Given the description of an element on the screen output the (x, y) to click on. 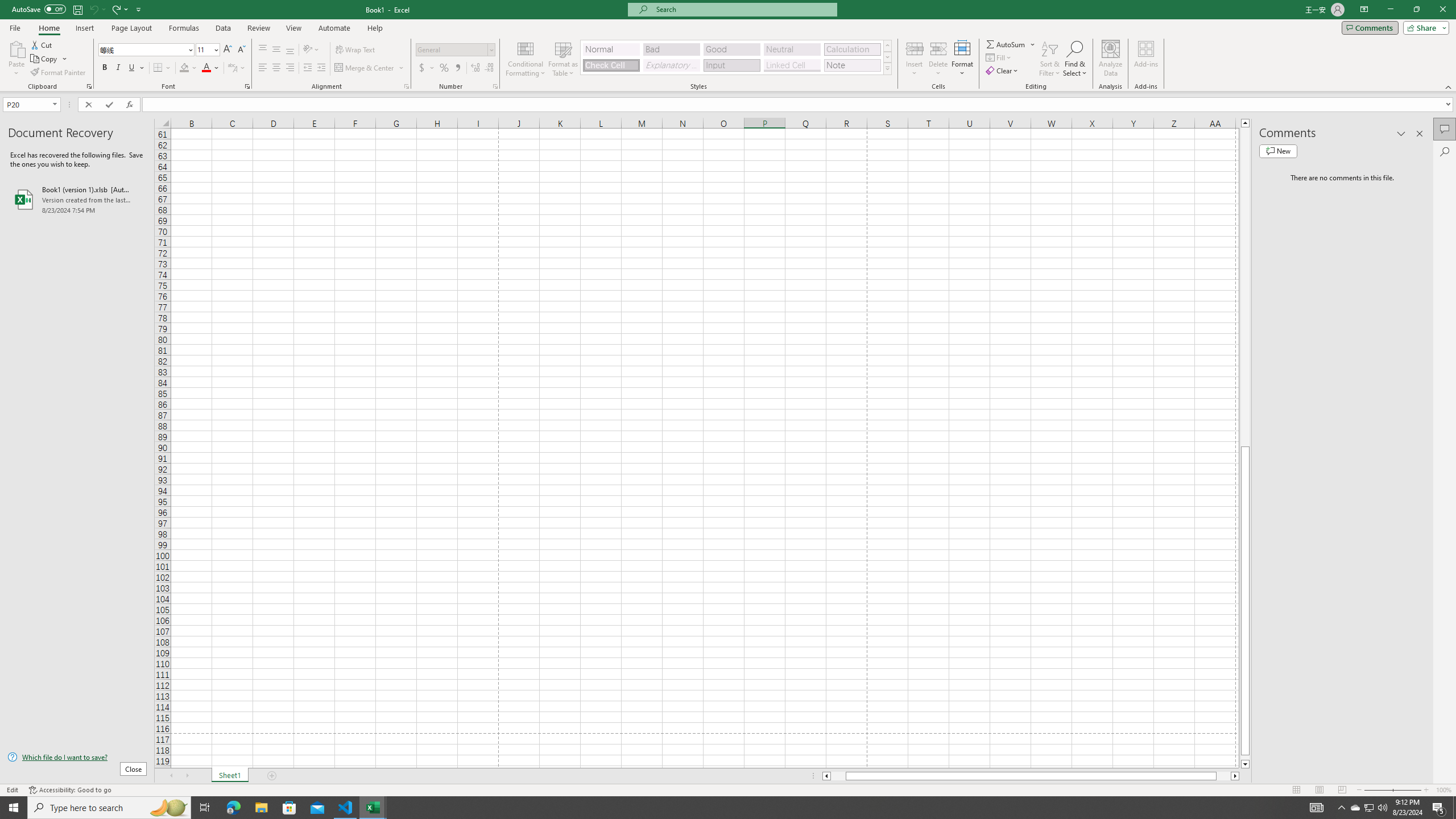
Top Align (262, 49)
Paste (16, 58)
Number Format (451, 49)
Bottom Border (157, 67)
Show Phonetic Field (236, 67)
Wrap Text (355, 49)
Page up (1245, 286)
Number Format (455, 49)
Decrease Font Size (240, 49)
